Given the description of an element on the screen output the (x, y) to click on. 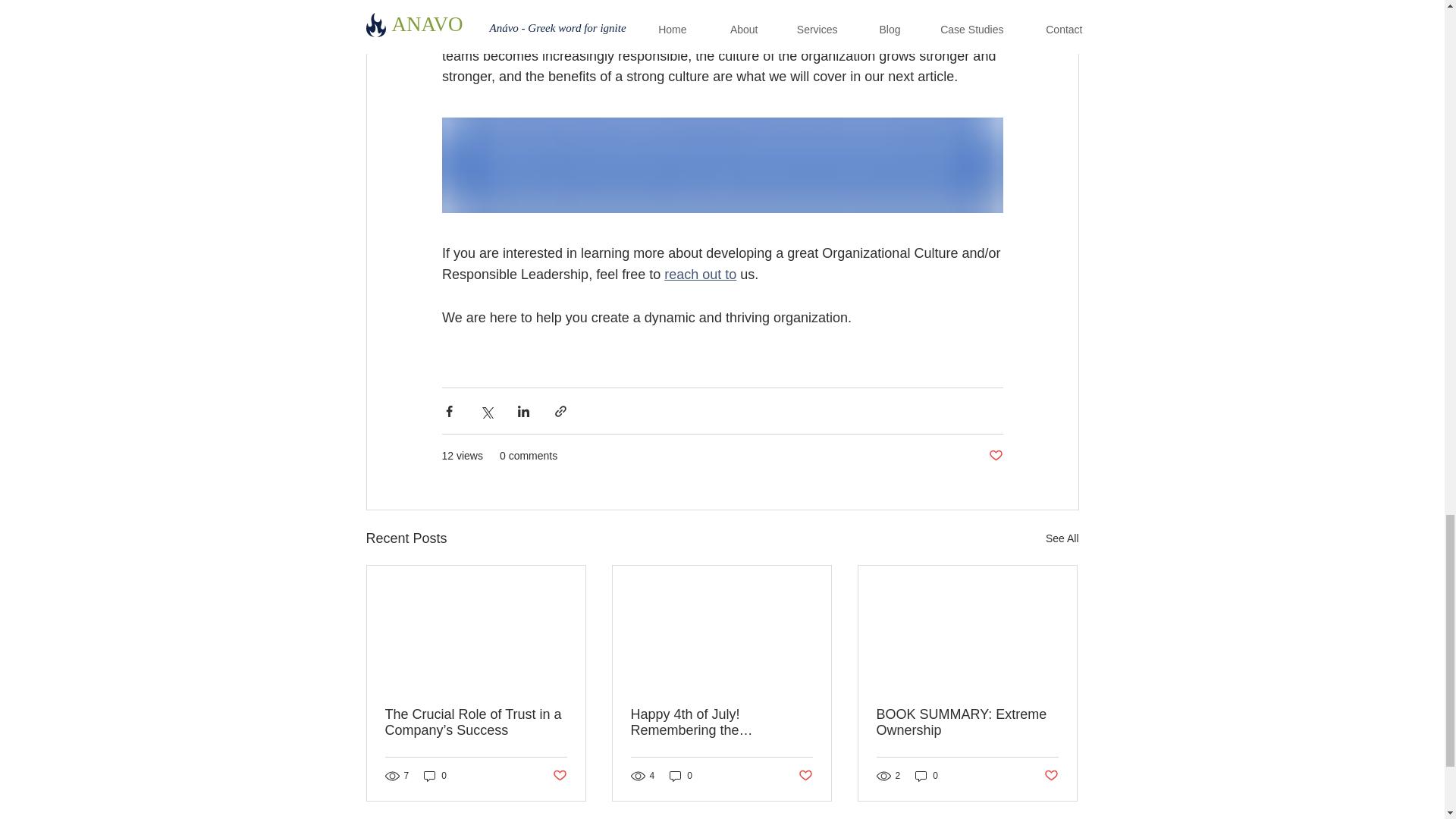
0 (681, 775)
Post not marked as liked (804, 775)
BOOK SUMMARY: Extreme Ownership (967, 722)
Happy 4th of July! Remembering the Significance (721, 722)
0 (435, 775)
Post not marked as liked (558, 775)
reach out to (699, 273)
Post not marked as liked (1050, 775)
See All (1061, 538)
0 (926, 775)
Post not marked as liked (995, 455)
